Given the description of an element on the screen output the (x, y) to click on. 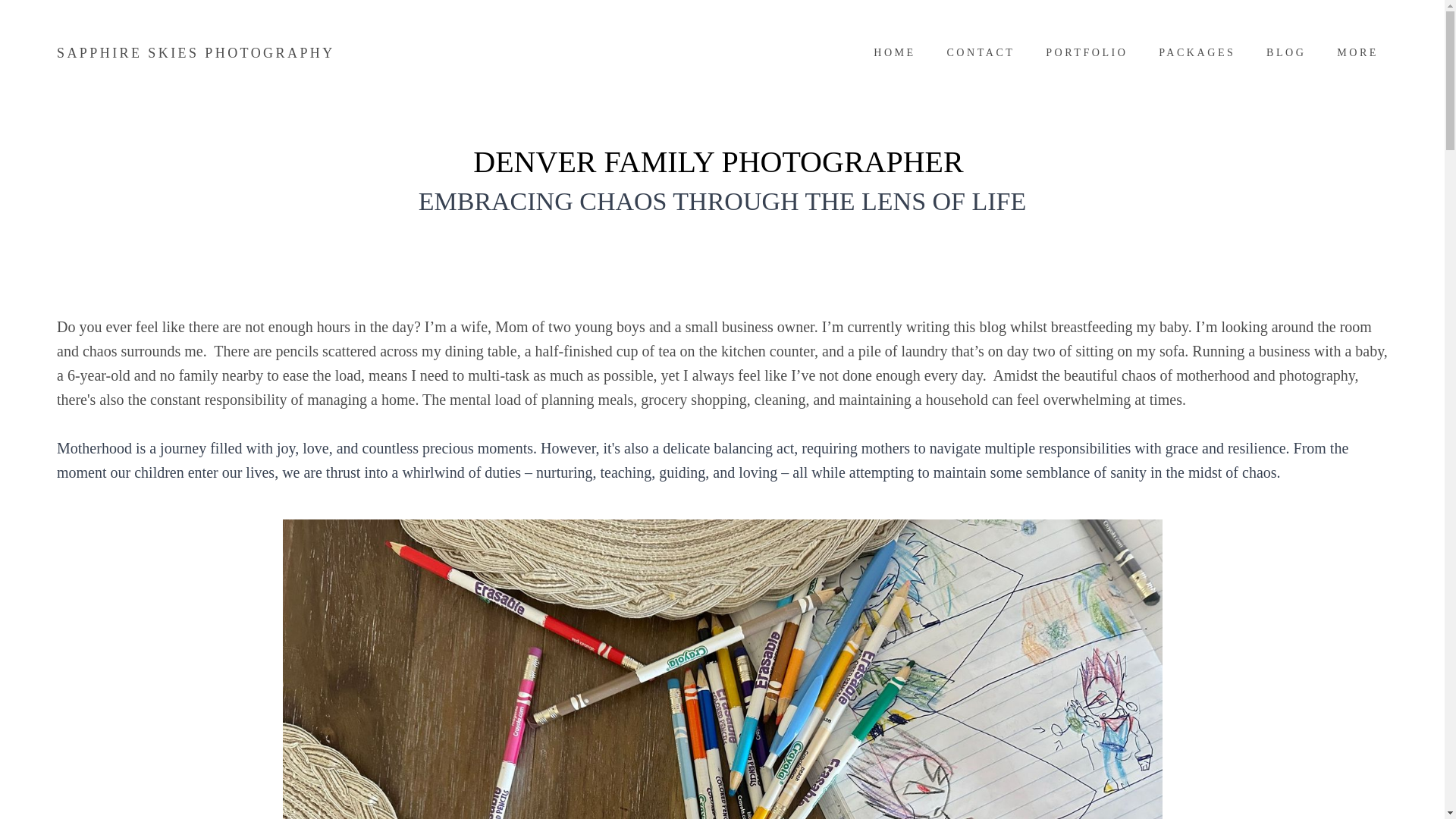
SAPPHIRE SKIES PHOTOGRAPHY (195, 52)
CONTACT (980, 53)
PORTFOLIO (1086, 53)
PACKAGES (1197, 53)
HOME (894, 53)
MORE (1361, 53)
BLOG (1286, 53)
